Given the description of an element on the screen output the (x, y) to click on. 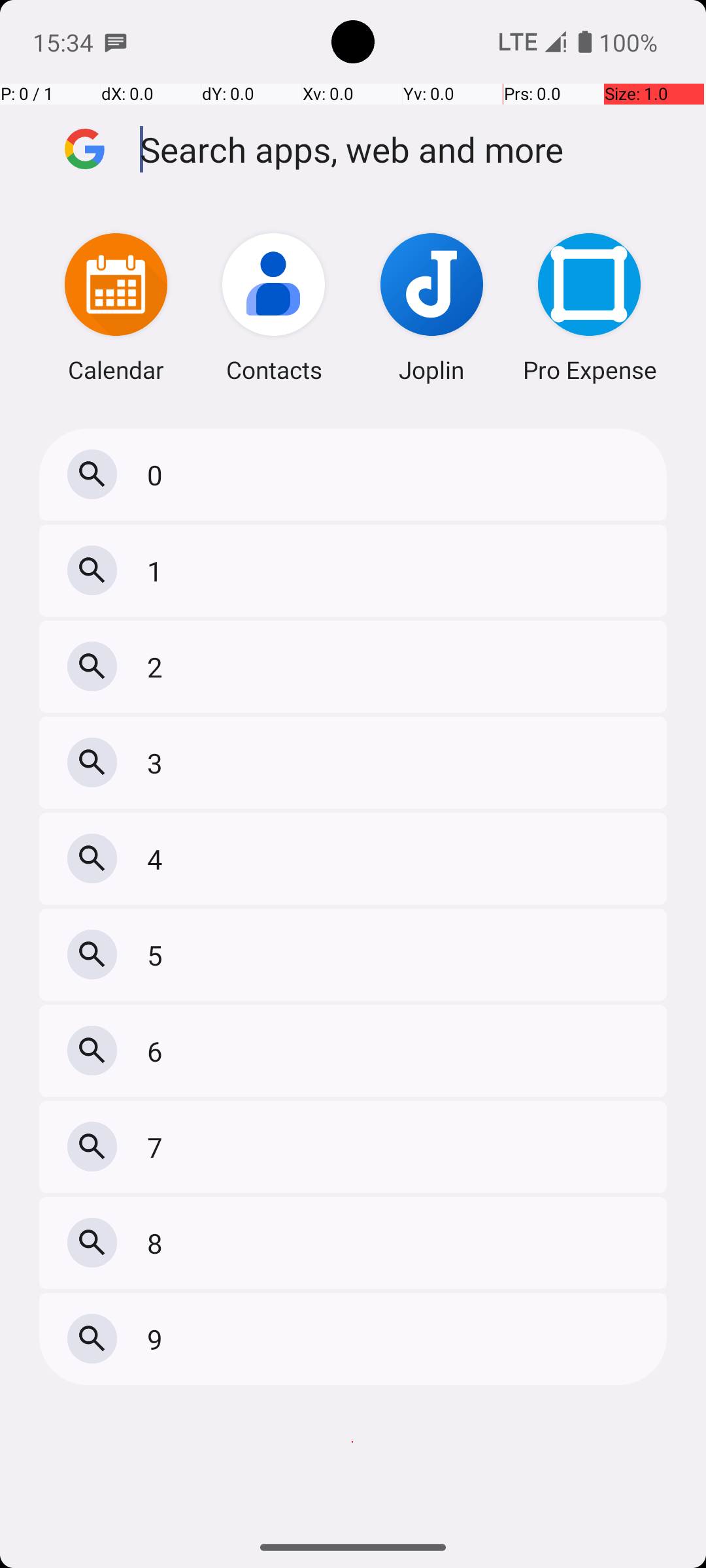
Search apps, web and more Element type: android.widget.EditText (403, 148)
